Given the description of an element on the screen output the (x, y) to click on. 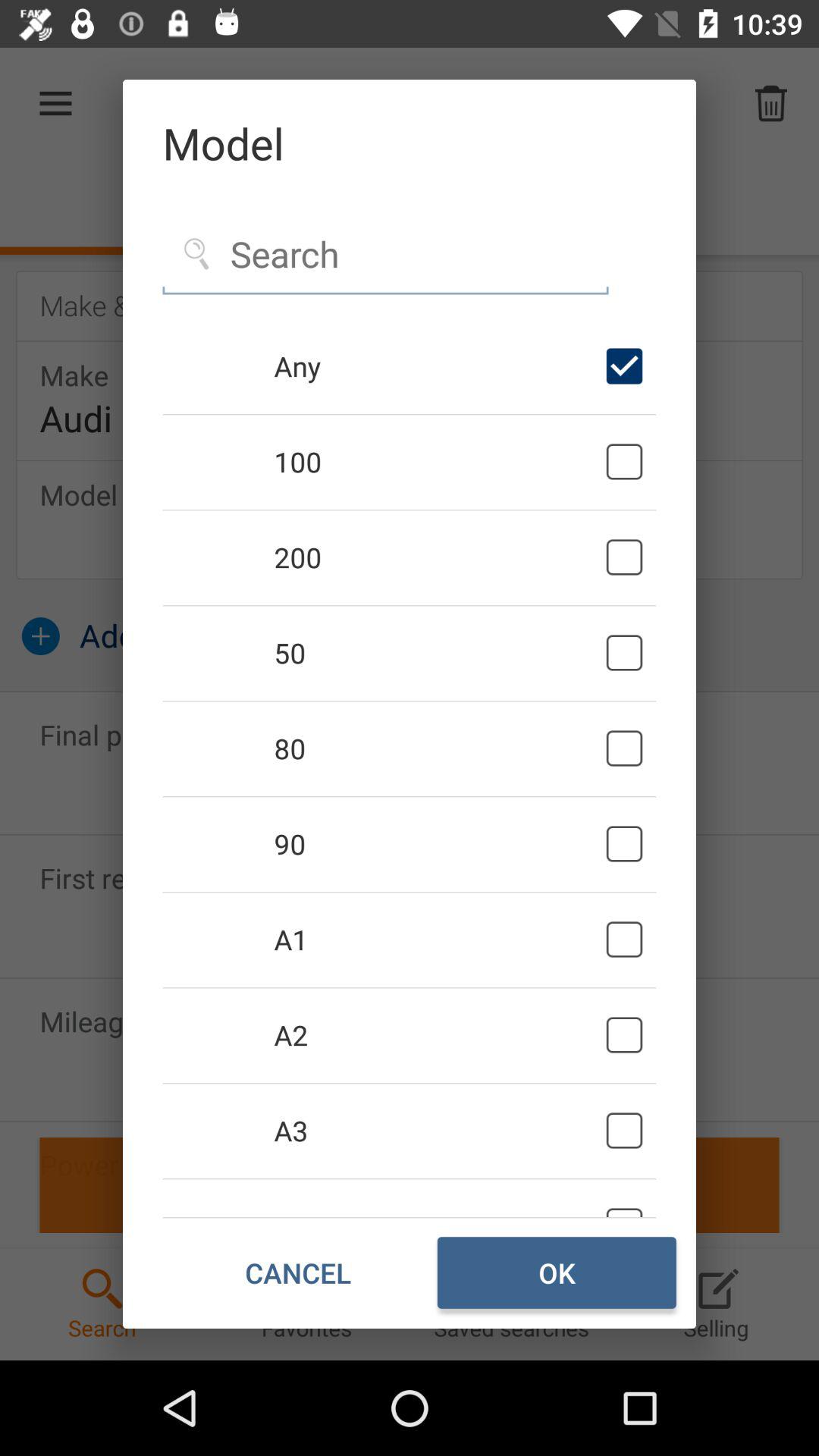
flip to 80 (437, 748)
